Given the description of an element on the screen output the (x, y) to click on. 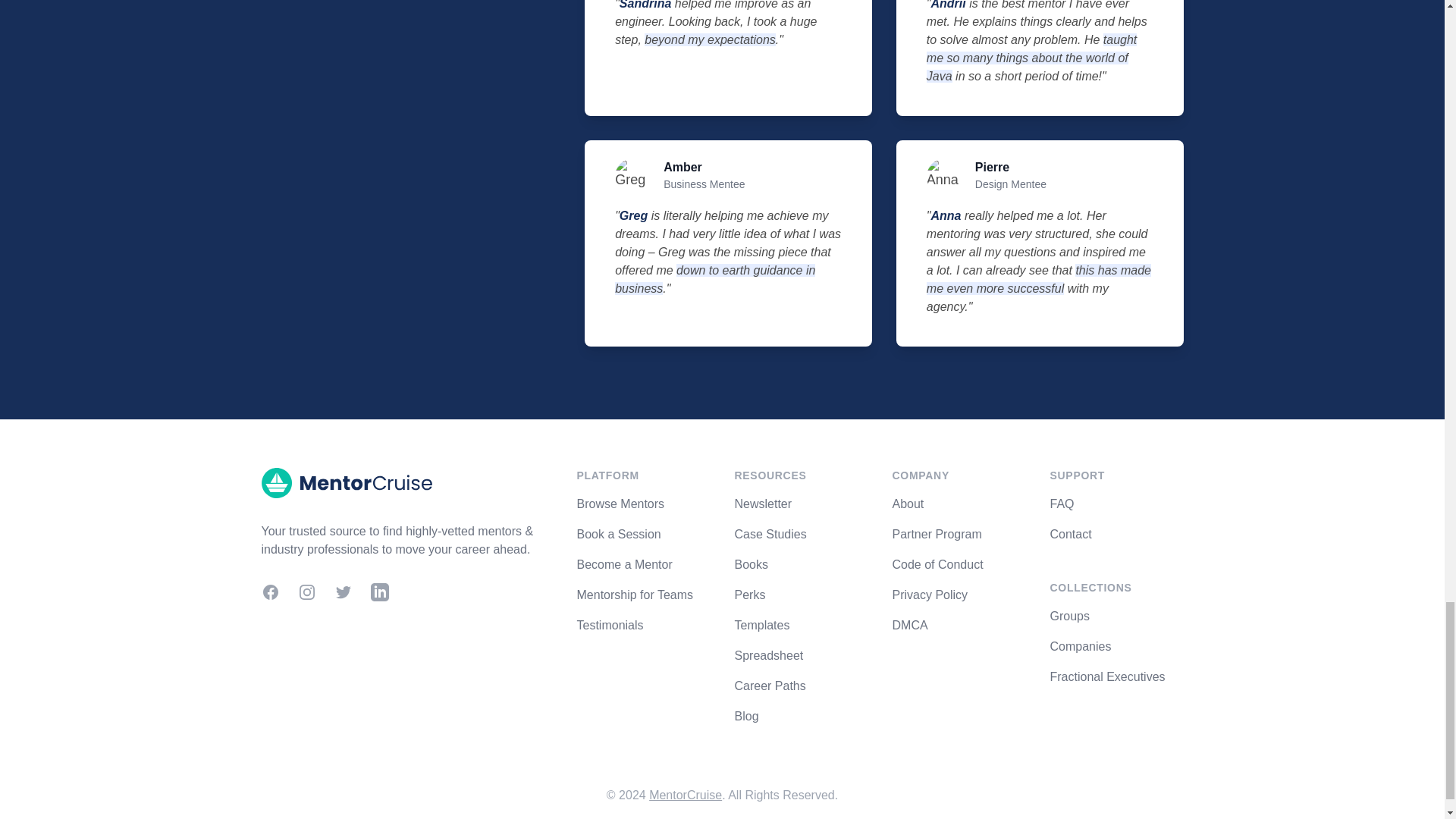
Sandrina (647, 4)
Greg (635, 215)
Andrii (950, 4)
Design Mentee (1010, 184)
Anna (947, 215)
Business Mentee (703, 184)
